Given the description of an element on the screen output the (x, y) to click on. 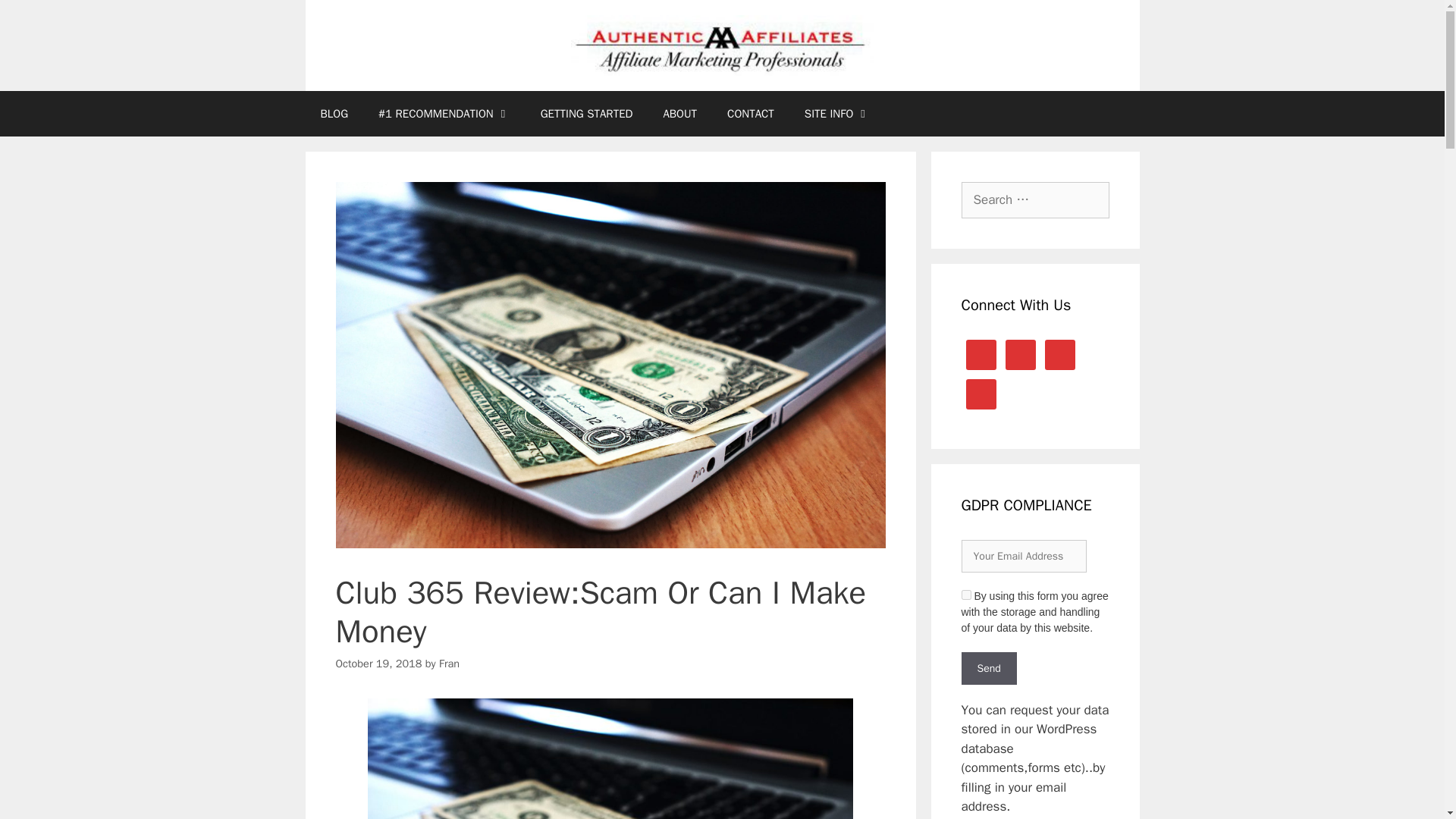
Fran (449, 663)
SITE INFO (837, 113)
BLOG (333, 113)
1 (965, 594)
View all posts by Fran (449, 663)
Search (35, 18)
Send (988, 667)
GETTING STARTED (586, 113)
Search for: (1034, 199)
CONTACT (750, 113)
